Given the description of an element on the screen output the (x, y) to click on. 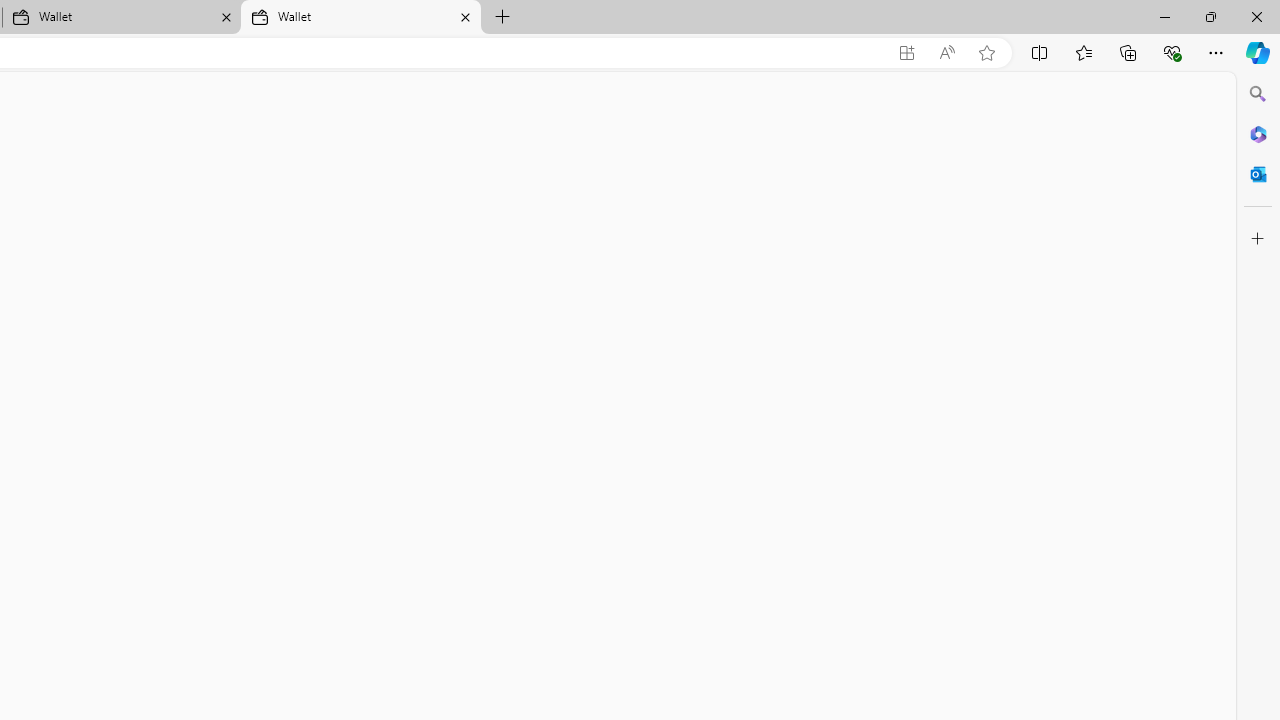
App available. Install Microsoft Wallet (906, 53)
